Given the description of an element on the screen output the (x, y) to click on. 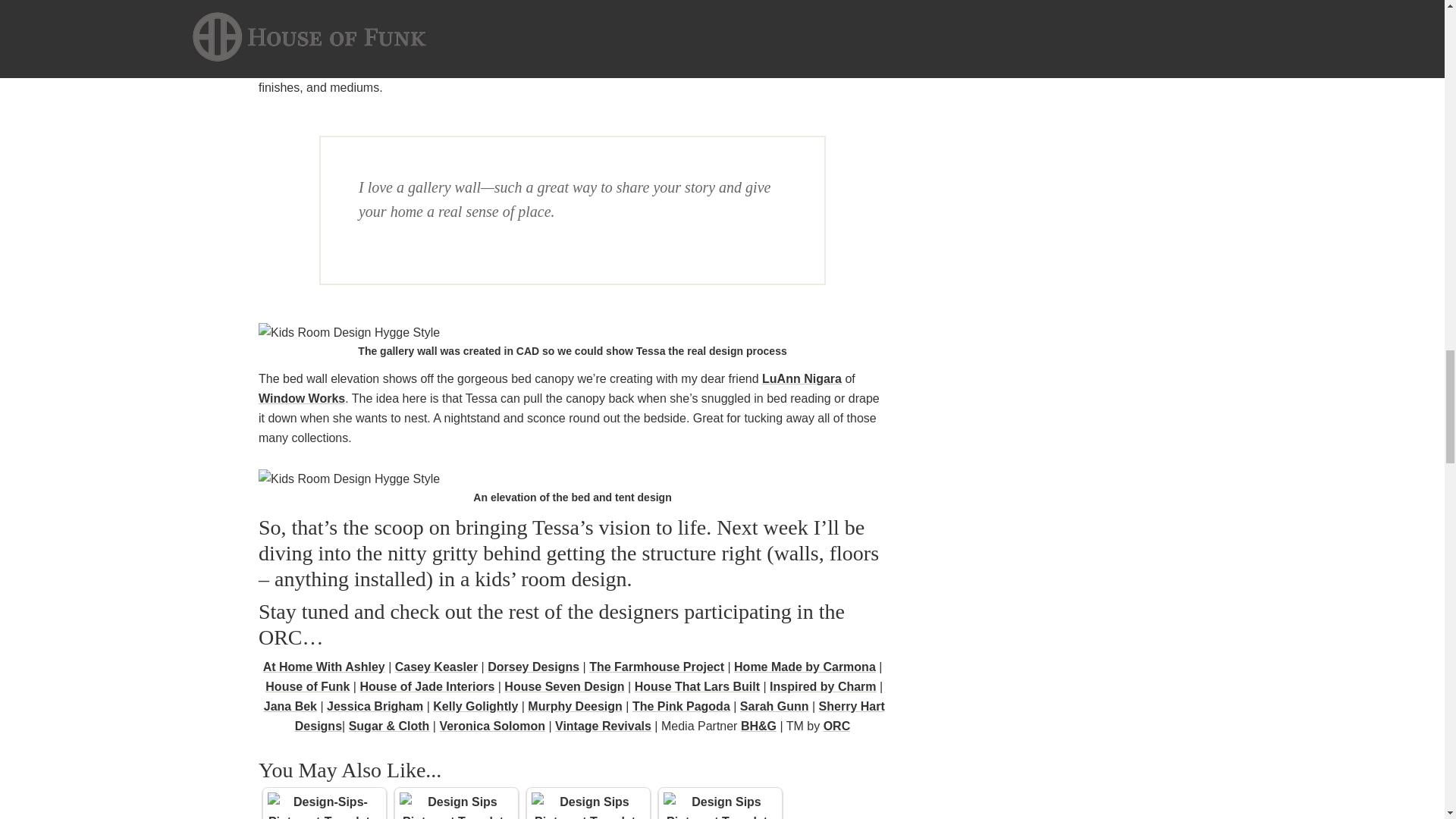
Home Made by Carmona (804, 666)
Casey Keasler (435, 666)
LuAnn Nigara (801, 378)
House That Lars Built (697, 686)
Inspired by Charm (823, 686)
Dorsey Designs (533, 666)
House of Funk (306, 686)
At Home With Ashley (324, 666)
Jana Bek (290, 706)
House of Jade Interiors (427, 686)
